Given the description of an element on the screen output the (x, y) to click on. 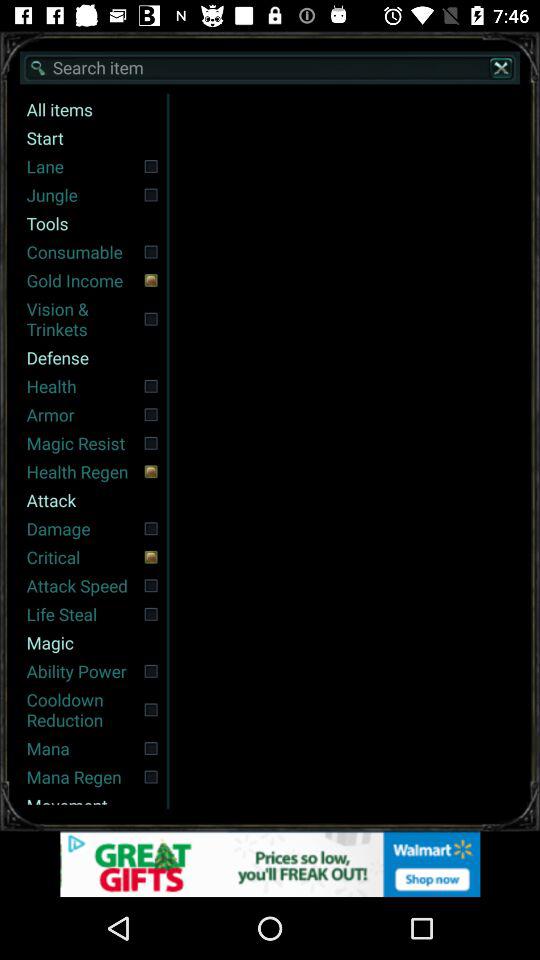
select search bar (269, 67)
